Given the description of an element on the screen output the (x, y) to click on. 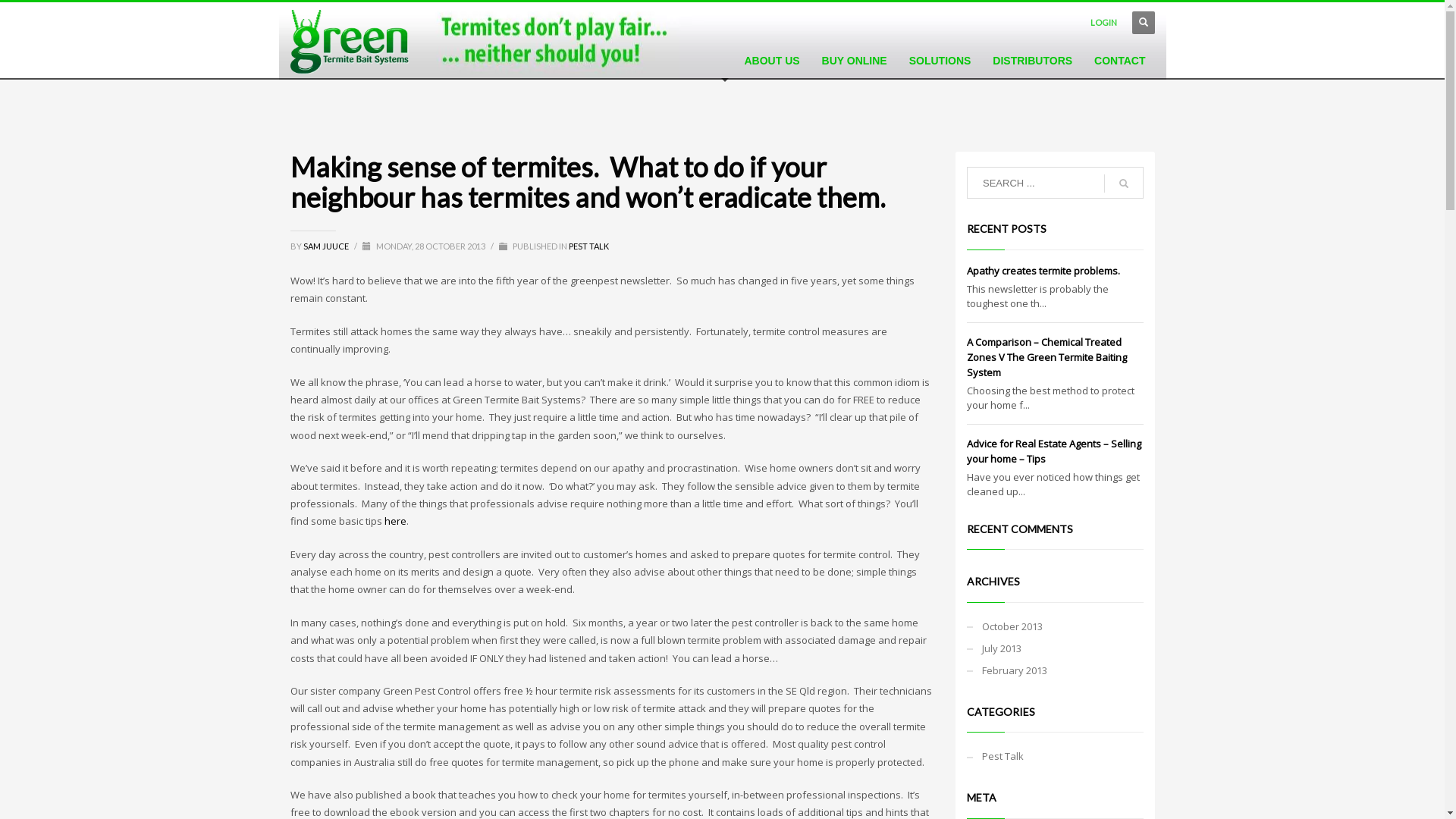
Apathy creates termite problems. Element type: text (1043, 270)
here Element type: text (394, 520)
CONTACT Element type: text (1119, 60)
LOGIN Element type: text (1103, 22)
ABOUT US Element type: text (771, 60)
February 2013 Element type: text (1054, 670)
October 2013 Element type: text (1054, 626)
BUY ONLINE Element type: text (854, 60)
SAM JUUCE Element type: text (326, 246)
DISTRIBUTORS Element type: text (1032, 60)
PEST TALK Element type: text (588, 246)
July 2013 Element type: text (1054, 648)
Termite Solutions Australia Element type: hover (348, 41)
Pest Talk Element type: text (1054, 756)
SOLUTIONS Element type: text (940, 60)
go Element type: text (1123, 183)
